Given the description of an element on the screen output the (x, y) to click on. 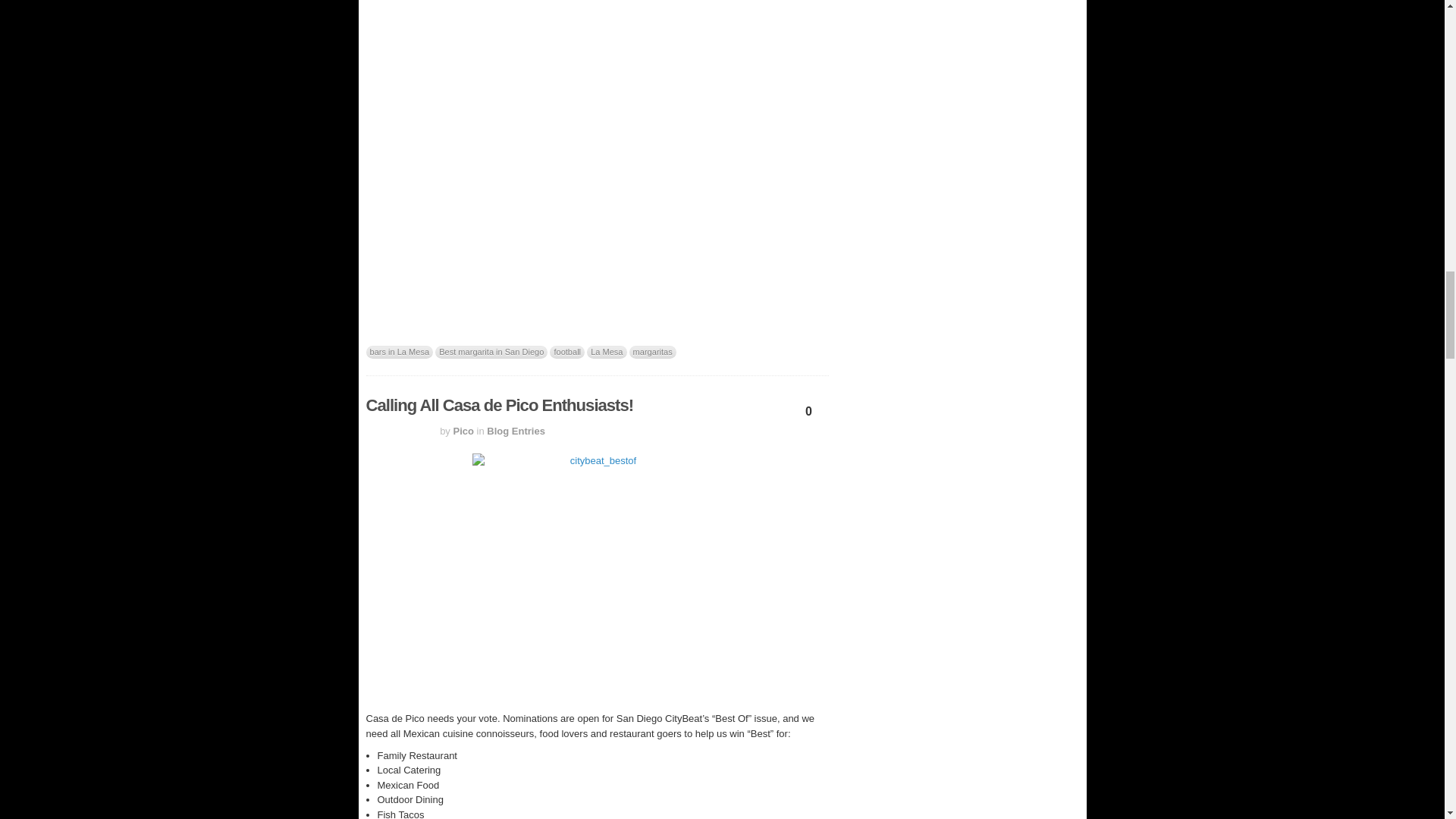
La Mesa (606, 351)
Best margarita in San Diego (491, 351)
Permalink to Calling All Casa de Pico Enthusiasts! (499, 404)
bars in La Mesa (398, 351)
margaritas (652, 351)
Posts by Pico (462, 430)
football (567, 351)
